Given the description of an element on the screen output the (x, y) to click on. 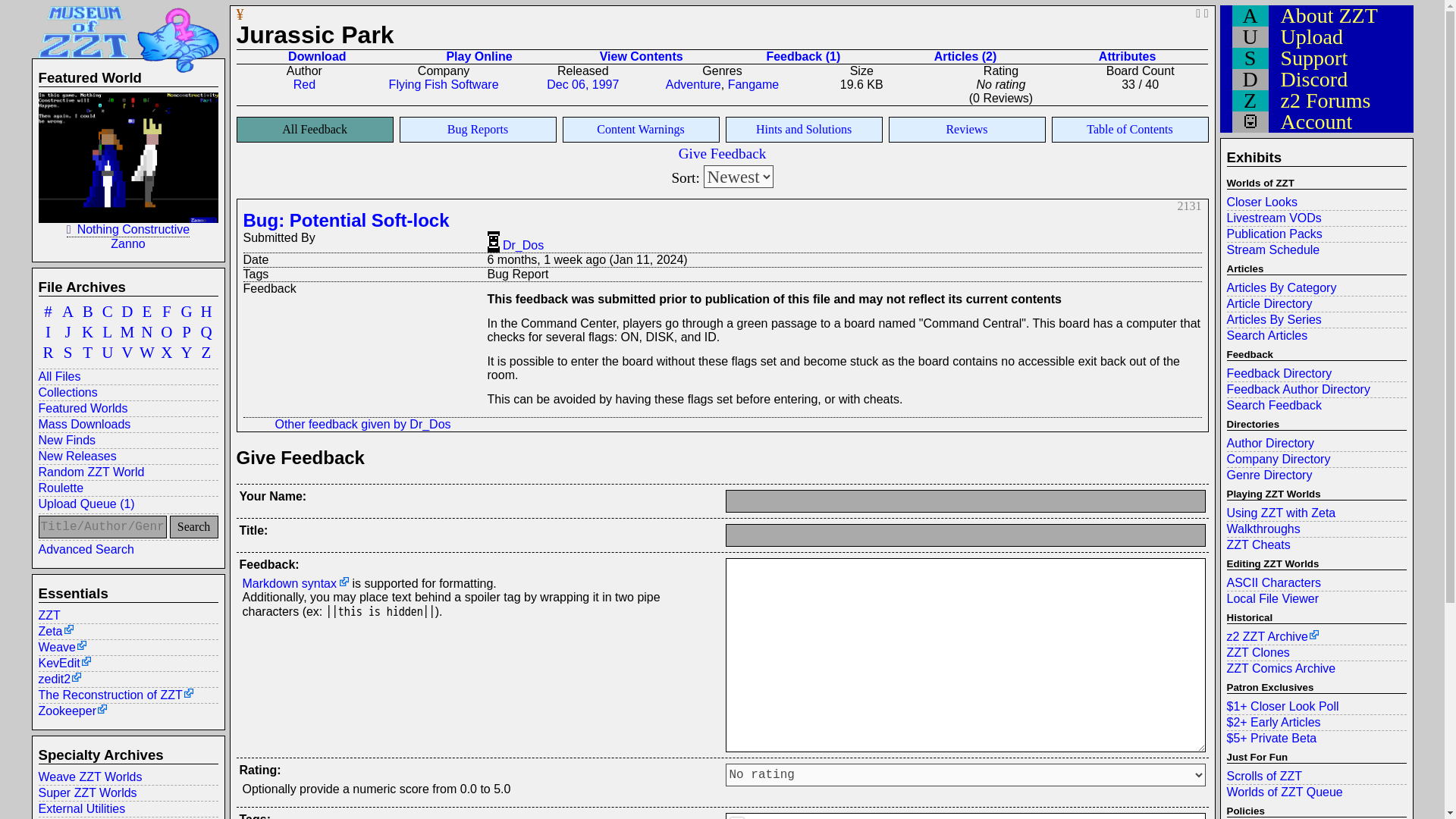
This file is a featured world. (68, 228)
V (126, 353)
N (146, 332)
O (166, 332)
All Files (126, 376)
New Finds (126, 439)
P (186, 332)
T (87, 353)
H (205, 312)
C (107, 312)
X (166, 353)
S (68, 353)
3 (736, 817)
F (166, 312)
K (87, 332)
